Given the description of an element on the screen output the (x, y) to click on. 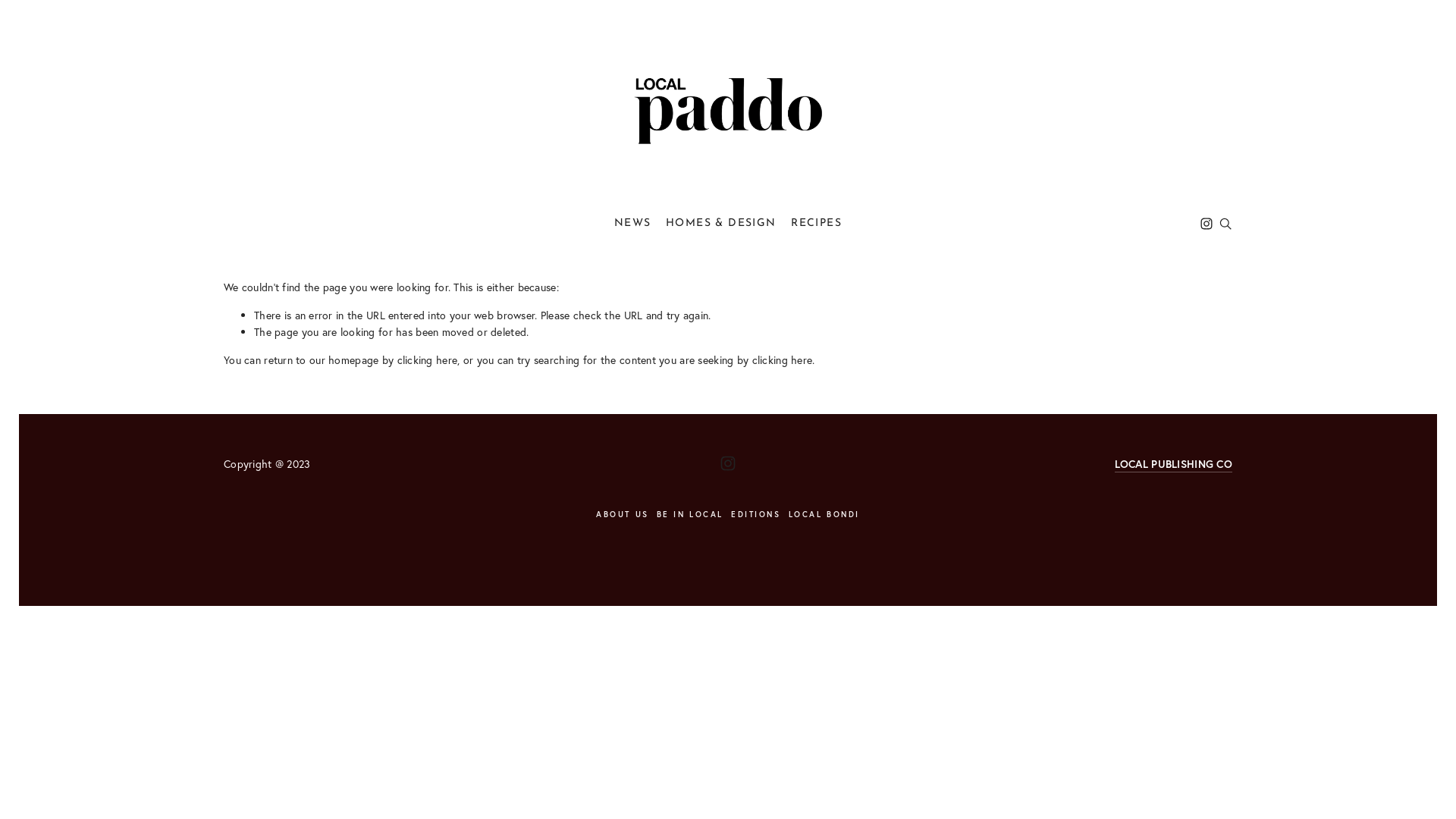
LOCAL BONDI Element type: text (827, 513)
BE IN LOCAL Element type: text (693, 513)
clicking here Element type: text (782, 359)
EDITIONS Element type: text (759, 513)
ABOUT US Element type: text (626, 513)
clicking here Element type: text (427, 359)
HOMES & DESIGN Element type: text (720, 223)
NEWS Element type: text (632, 223)
LOCAL PUBLISHING CO Element type: text (1173, 464)
RECIPES Element type: text (815, 223)
